Given the description of an element on the screen output the (x, y) to click on. 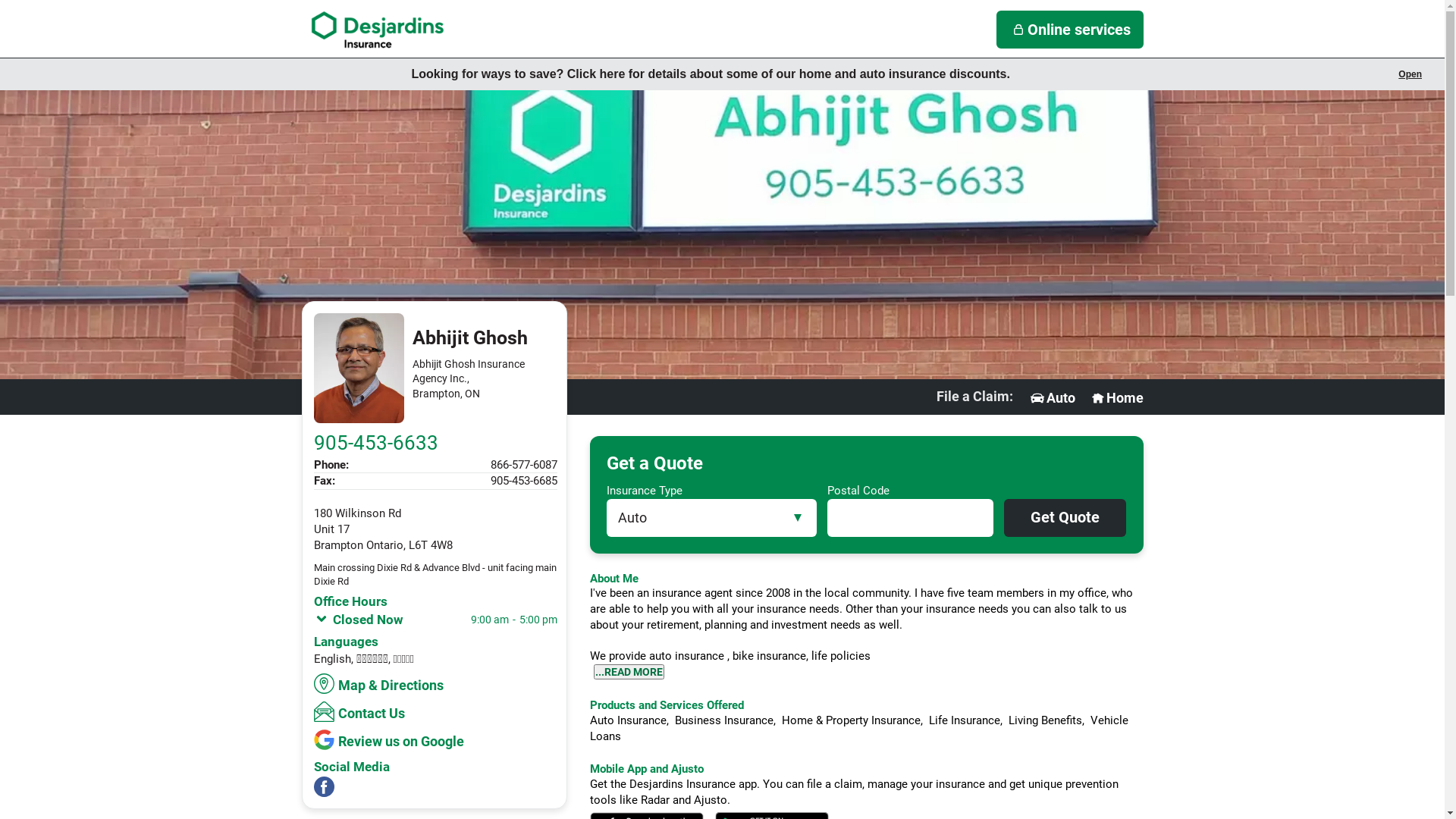
Auto Element type: text (1051, 397)
Open Element type: text (1409, 73)
Map & Directions Element type: text (380, 683)
...READ MORE Element type: text (628, 671)
Navigate to Desjardins Insurance Element type: hover (377, 29)
Online services Element type: text (1069, 29)
905-453-6633 Element type: text (375, 442)
866-577-6087 Element type: text (522, 464)
905-453-6685 Element type: text (522, 480)
Contact Us Element type: text (360, 711)
Home Element type: text (1115, 397)
Get Quote Element type: text (1065, 517)
Review us on Google Element type: text (390, 739)
